Given the description of an element on the screen output the (x, y) to click on. 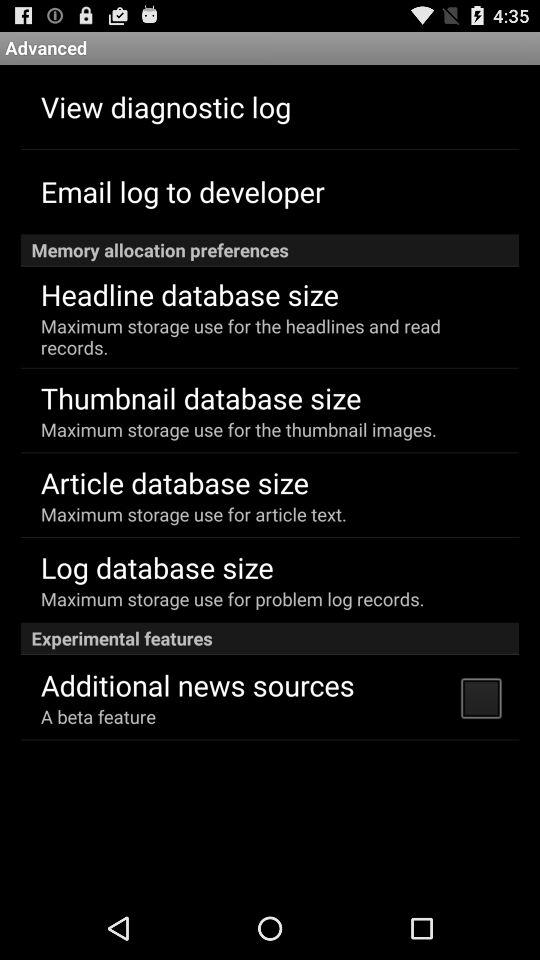
launch memory allocation preferences item (270, 250)
